Given the description of an element on the screen output the (x, y) to click on. 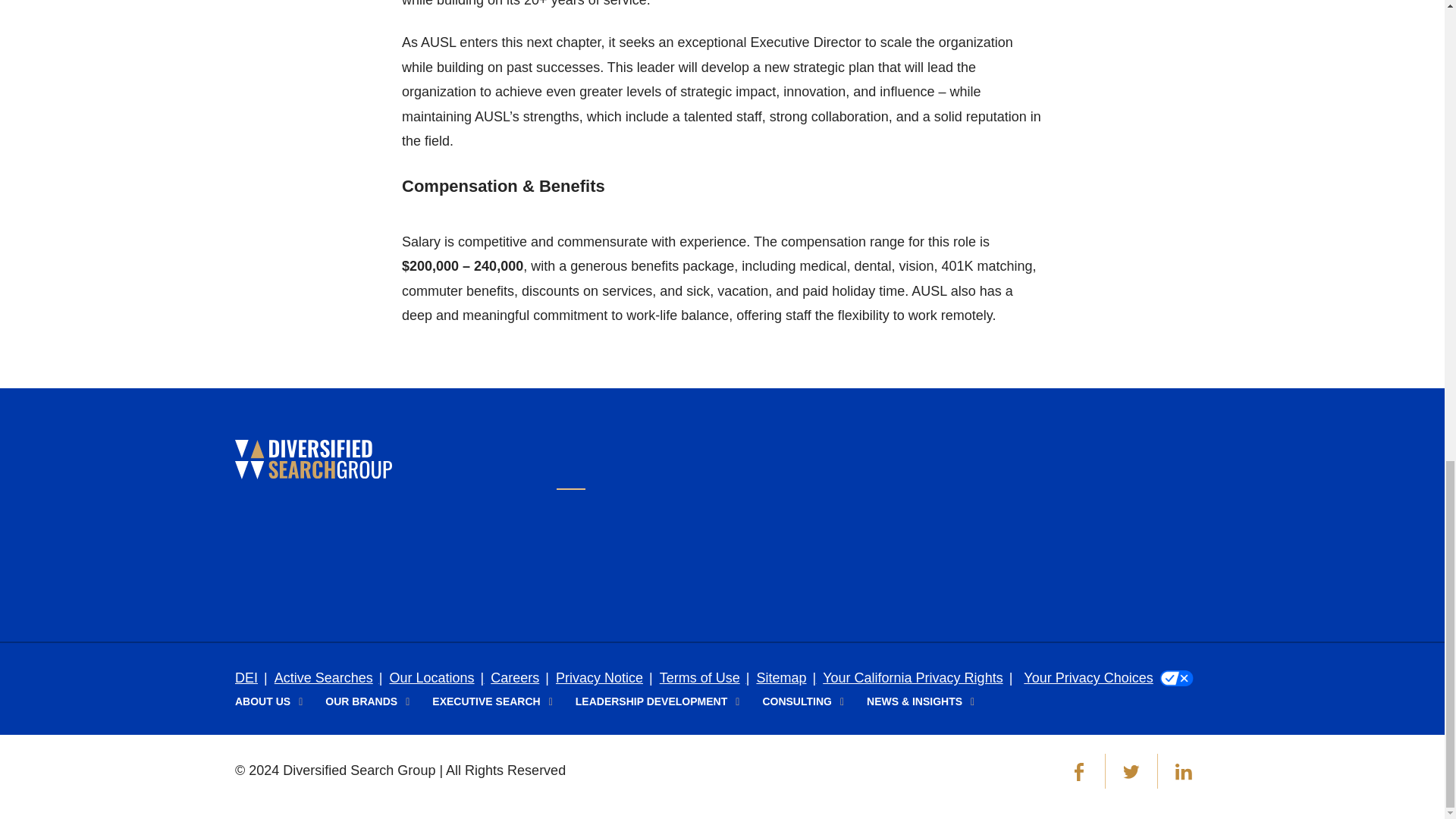
facebook (1078, 771)
twitter (1131, 771)
linkedin (1183, 771)
